Given the description of an element on the screen output the (x, y) to click on. 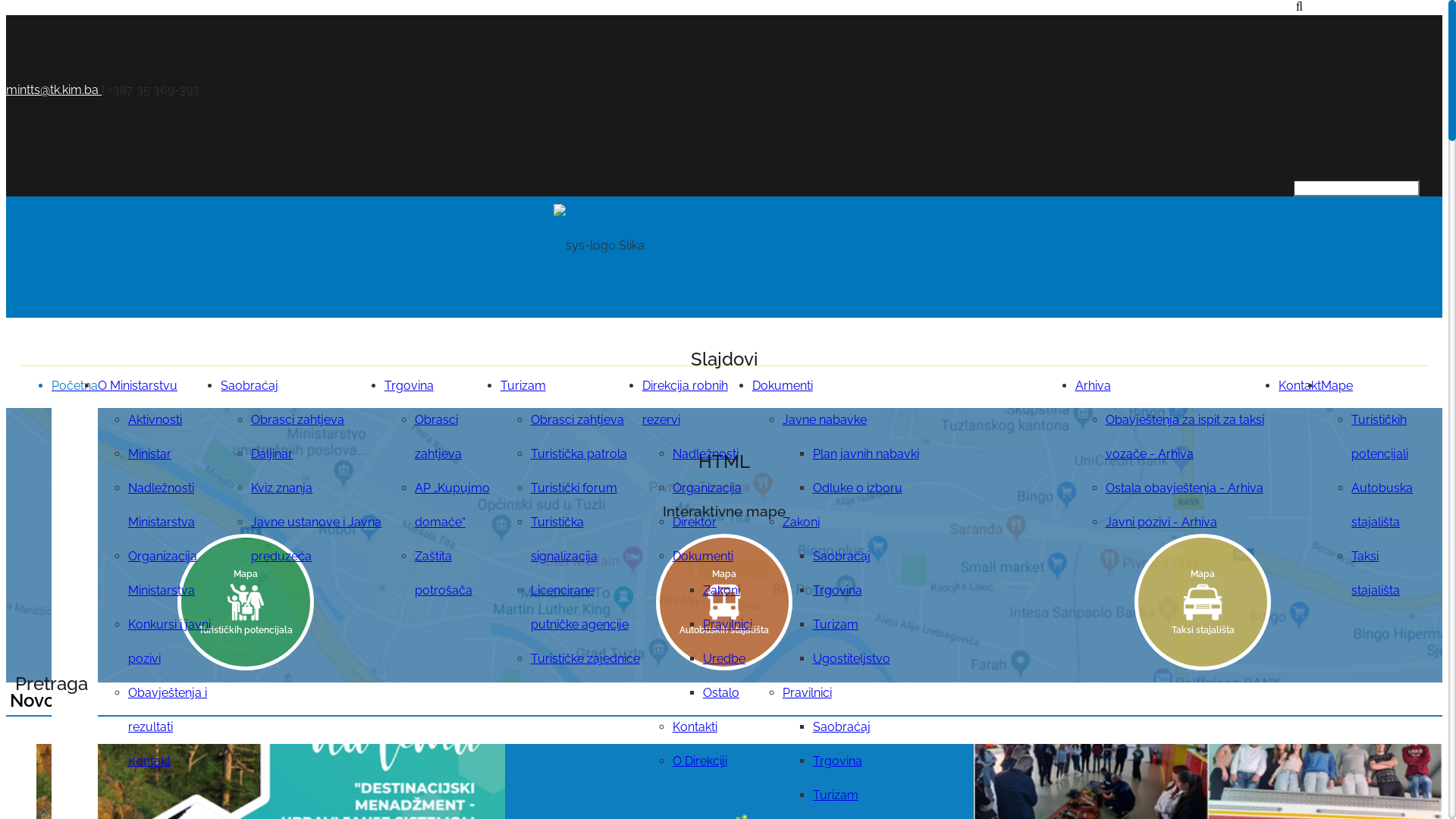
Trgovina Element type: text (837, 760)
Obrasci zahtjeva Element type: text (437, 436)
Trgovina Element type: text (408, 385)
Organizacija Ministarstva Element type: text (162, 573)
Turizam Element type: text (835, 624)
O Ministarstvu Element type: text (137, 385)
Arhiva Element type: text (1092, 385)
O Direkciji Element type: text (699, 760)
Turizam Element type: text (835, 794)
Zakoni Element type: text (800, 521)
Pravilnici Element type: text (806, 692)
Kontakt Element type: text (1299, 385)
Organizacija Element type: text (706, 487)
Javne nabavke Element type: text (824, 419)
Plan javnih nabavki Element type: text (865, 453)
Direktor Element type: text (694, 521)
Direkcija robnih rezervi Element type: text (685, 402)
Javni pozivi - Arhiva Element type: text (1161, 521)
Daljinar Element type: text (271, 453)
Kontakti Element type: text (694, 726)
Pretraga Element type: text (25, 7)
Mape Element type: text (1336, 385)
mintts@tk.kim.ba Element type: text (53, 89)
Konkursi i javni pozivi Element type: text (169, 641)
Turizam Element type: text (523, 385)
Ugostiteljstvo Element type: text (851, 658)
Trgovina Element type: text (837, 590)
Dokumenti Element type: text (702, 556)
Uredbe Element type: text (723, 658)
Aktivnosti Element type: text (155, 419)
Zakoni Element type: text (721, 590)
Dokumenti Element type: text (782, 385)
Kontakt Element type: text (149, 760)
Pravilnici Element type: text (727, 624)
Ministar Element type: text (149, 453)
Odluke o izboru Element type: text (857, 487)
Obrasci zahtjeva Element type: text (297, 419)
Ostalo Element type: text (720, 692)
Obrasci zahtjeva Element type: text (577, 419)
Kviz znanja Element type: text (281, 487)
